Given the description of an element on the screen output the (x, y) to click on. 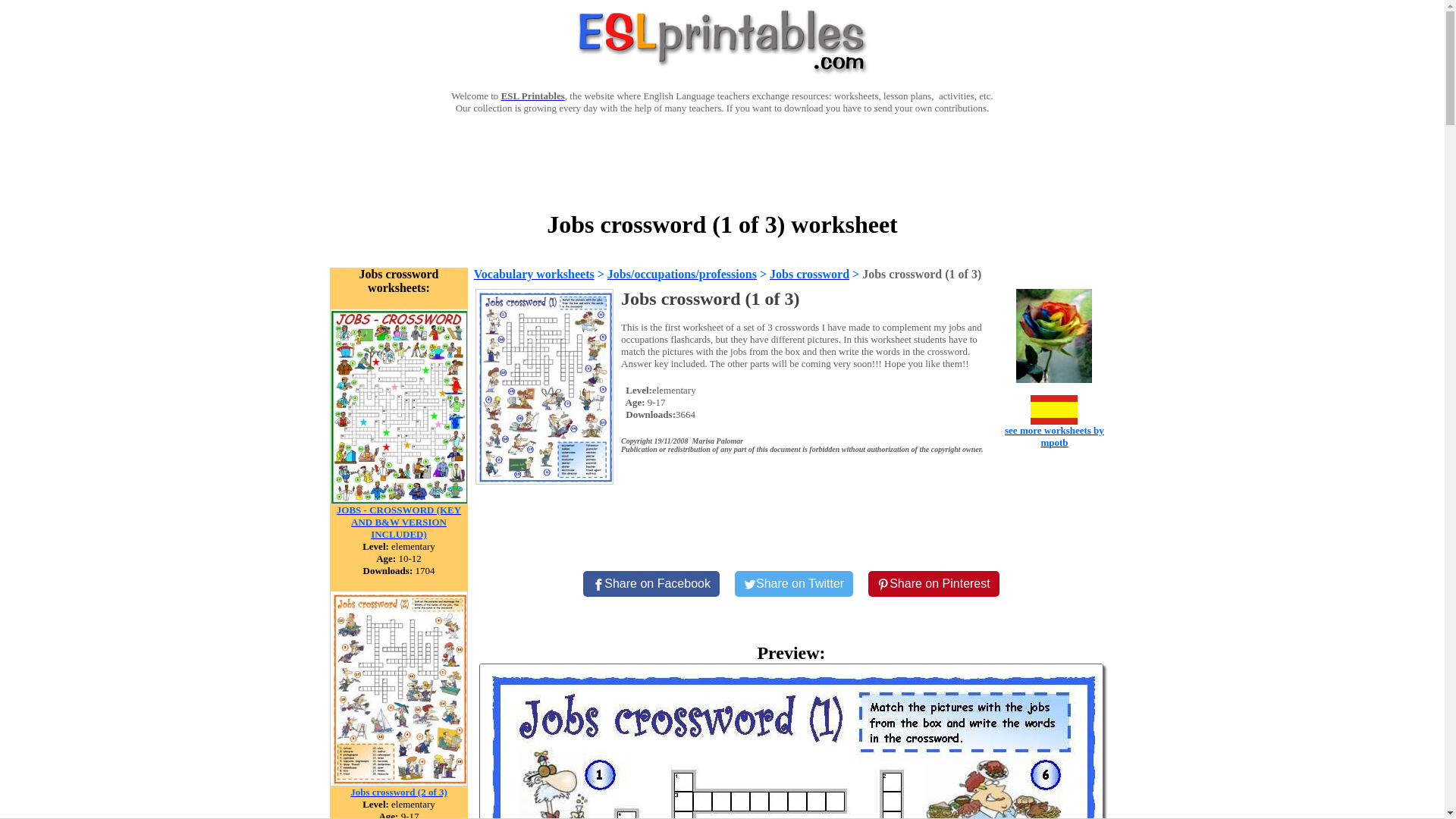
Advertisement (721, 160)
ESL Printables (532, 95)
English worksheets: English worksheets and lesson plans (532, 95)
